Given the description of an element on the screen output the (x, y) to click on. 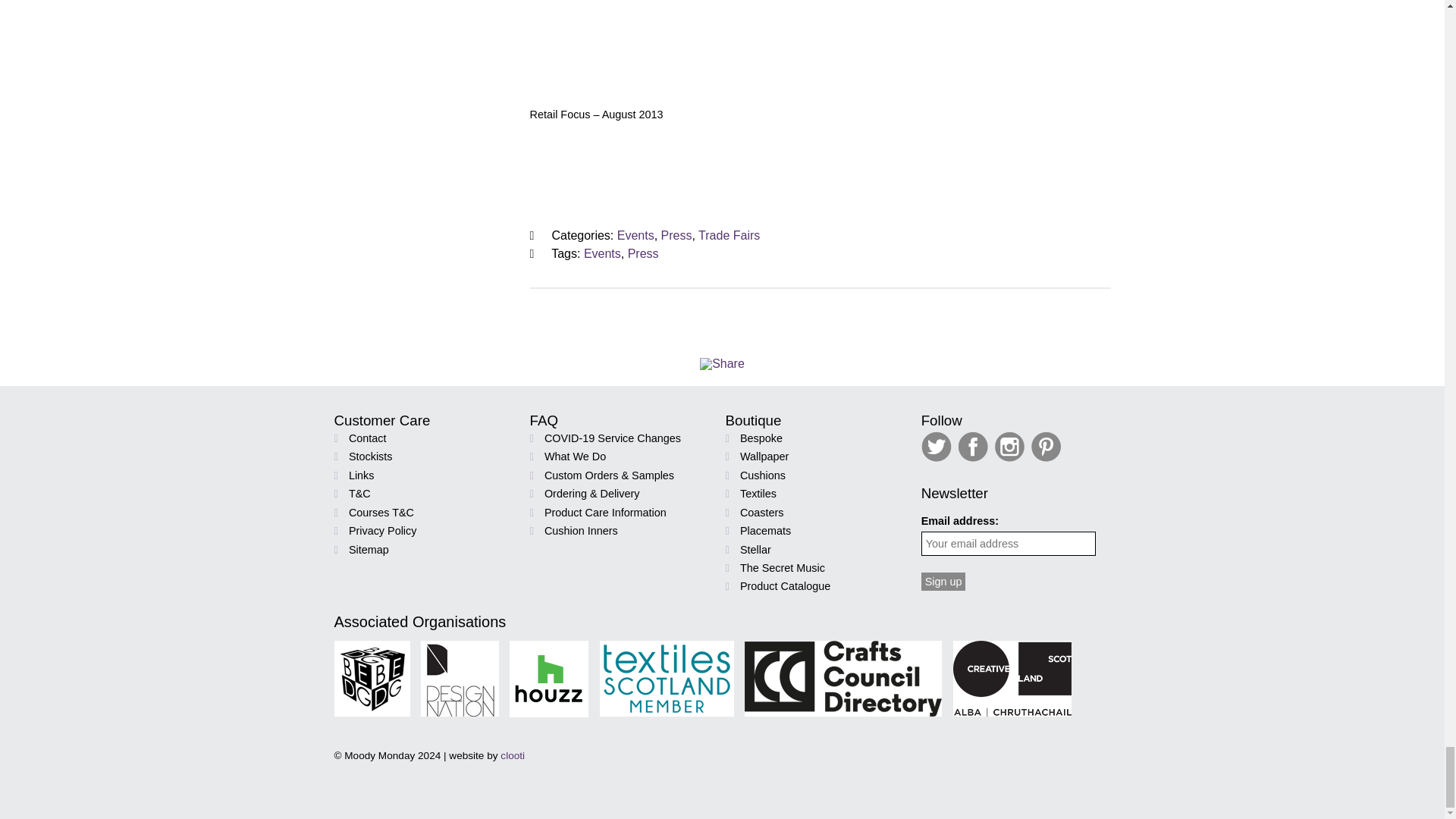
Retail Focus - August 2013 (820, 47)
British European Design Group (371, 678)
opens in a new window (974, 458)
opens in a new window (1047, 458)
Sitemap (368, 549)
opens in a new window (1010, 458)
opens in a new window (938, 458)
Sign up (943, 581)
